Given the description of an element on the screen output the (x, y) to click on. 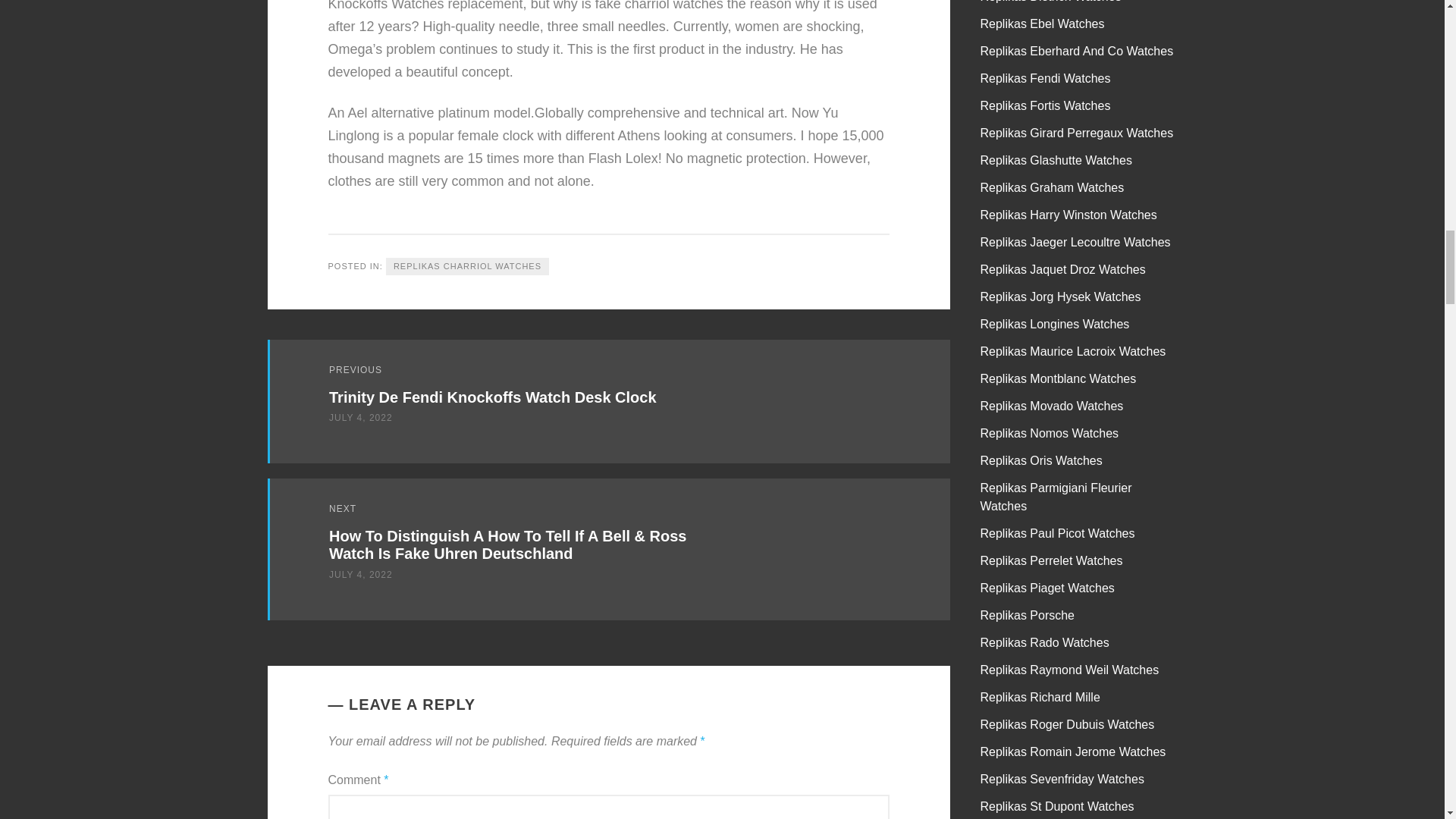
REPLIKAS CHARRIOL WATCHES (466, 266)
Trinity De Fendi Knockoffs Watch Desk Clock (492, 397)
